Given the description of an element on the screen output the (x, y) to click on. 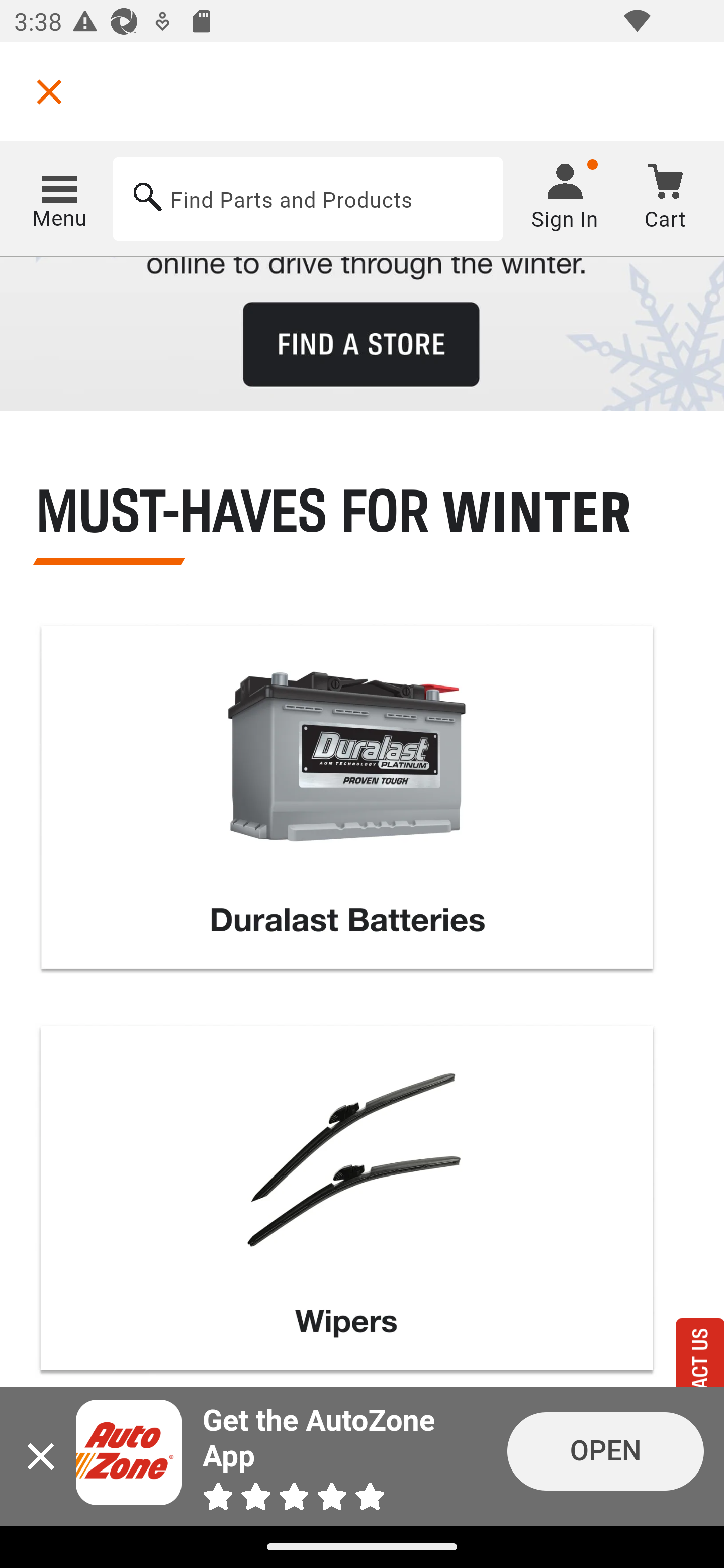
 (49, 91)
Duralast Batteries (347, 802)
Wipers (347, 1204)
Close icon Get the AutoZone App OPEN (362, 1456)
